Given the description of an element on the screen output the (x, y) to click on. 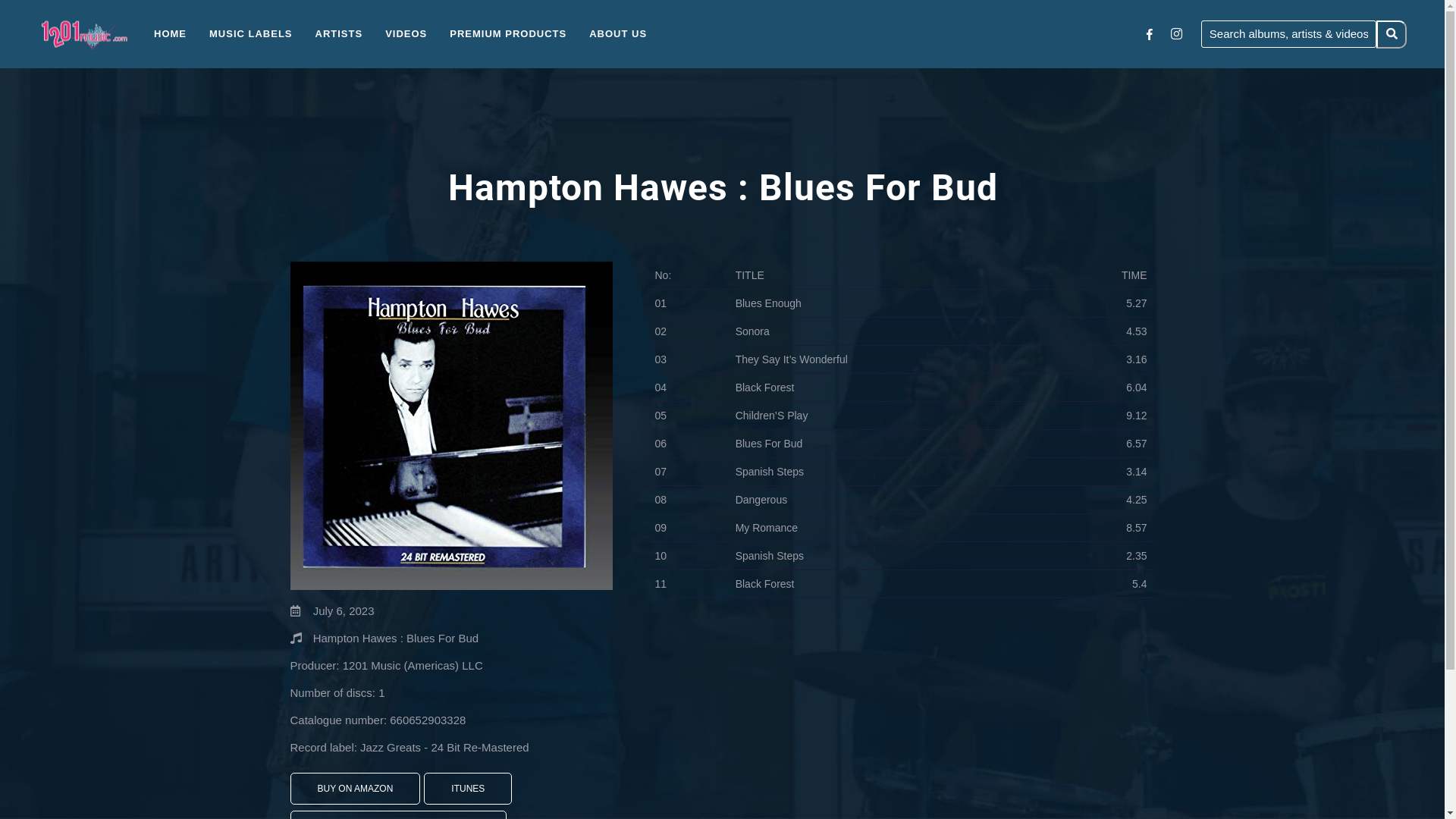
HOME Element type: text (169, 33)
VIDEOS Element type: text (405, 33)
PREMIUM PRODUCTS Element type: text (507, 33)
ITUNES Element type: text (467, 788)
MUSIC LABELS Element type: text (250, 33)
ABOUT US Element type: text (617, 33)
BUY ON AMAZON Element type: text (354, 788)
Search Element type: hover (1391, 33)
ARTISTS Element type: text (338, 33)
